Given the description of an element on the screen output the (x, y) to click on. 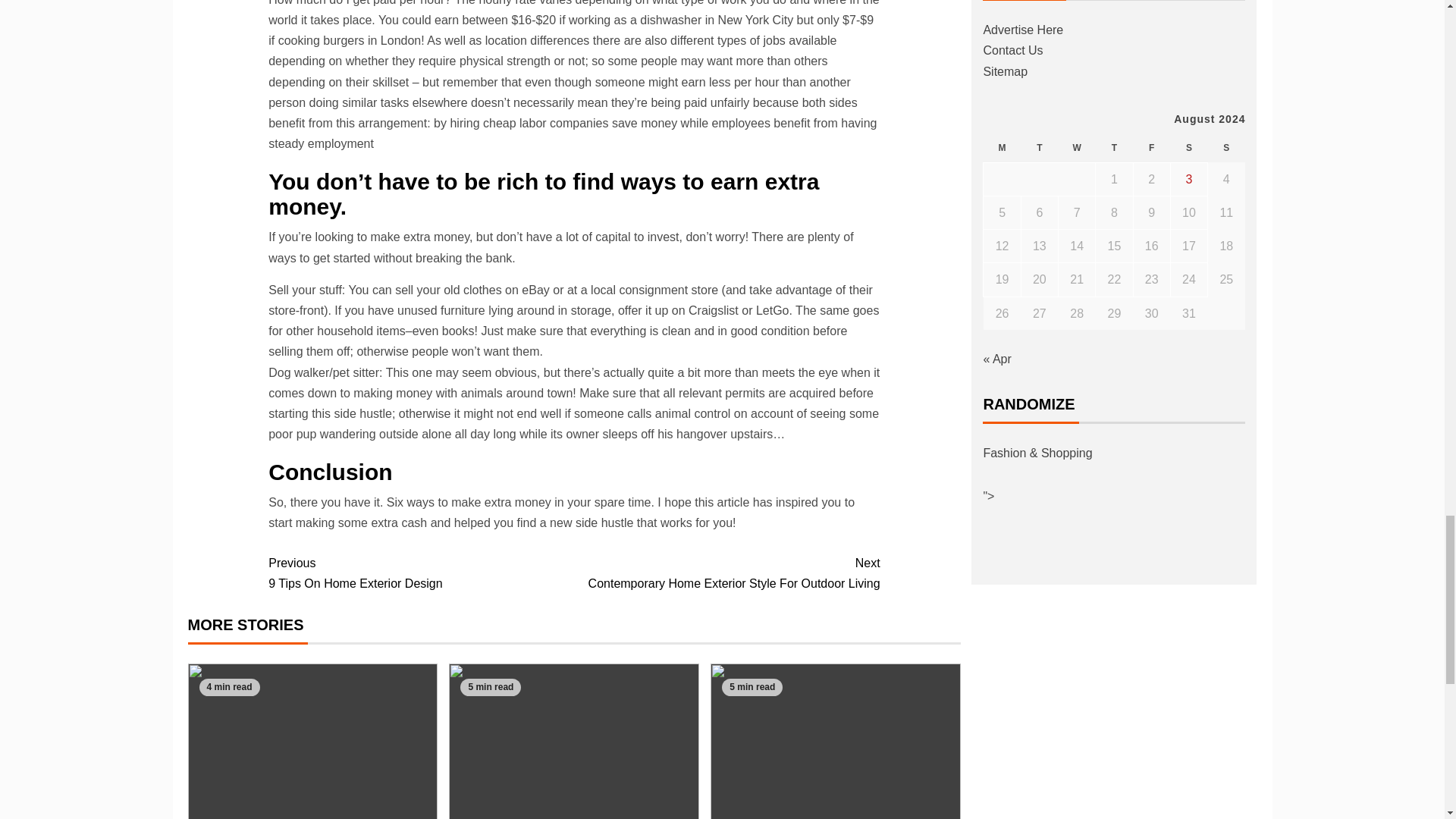
Monday (1002, 148)
Wednesday (1077, 148)
Saturday (1188, 148)
Thursday (1114, 148)
Tuesday (420, 572)
Friday (1039, 148)
Sunday (726, 572)
